Given the description of an element on the screen output the (x, y) to click on. 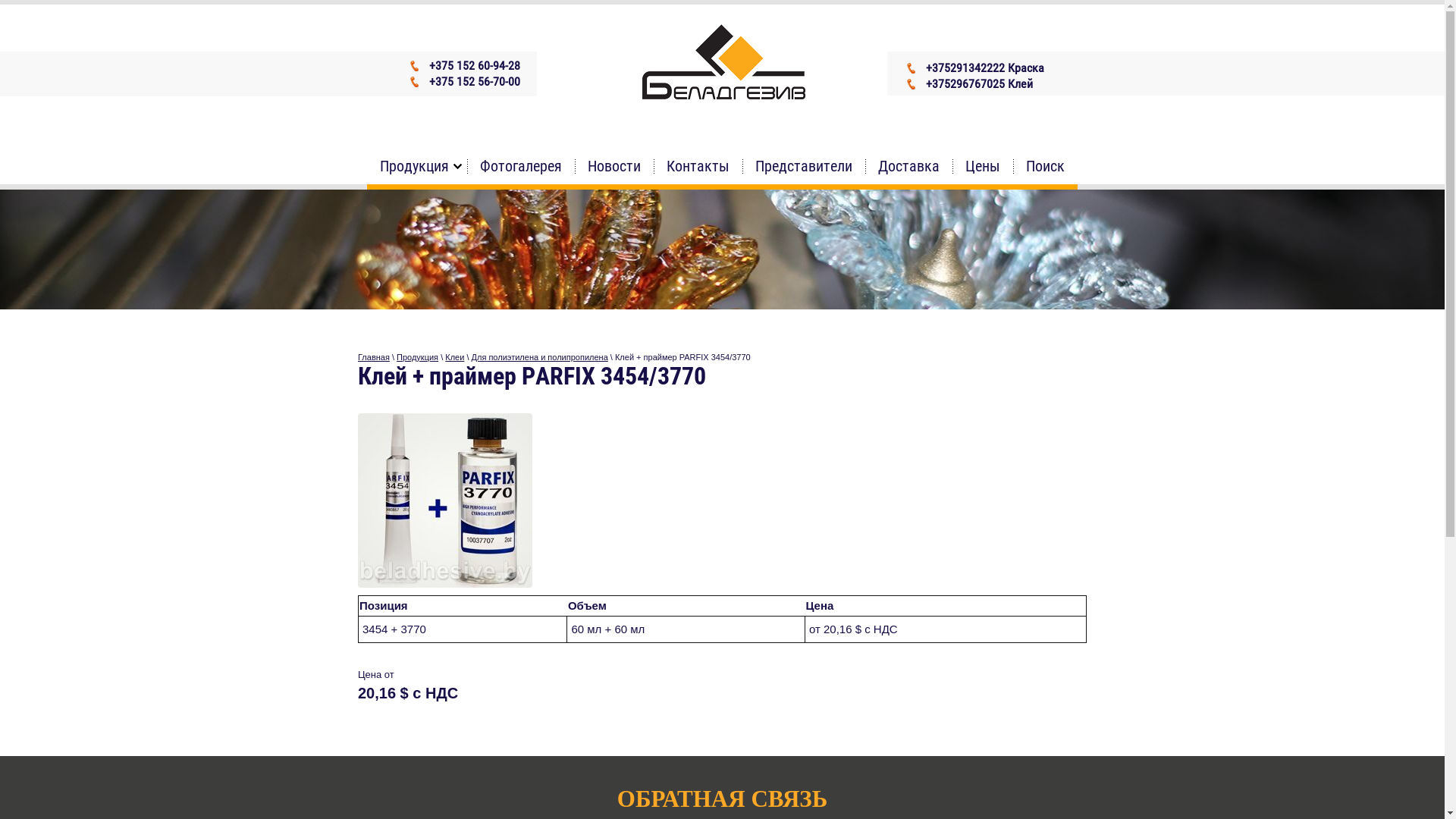
+375 152 56-70-00 Element type: text (474, 81)
+375 152 60-94-28 Element type: text (474, 65)
+375291342222 Element type: text (964, 67)
+375296767025 Element type: text (964, 83)
